Given the description of an element on the screen output the (x, y) to click on. 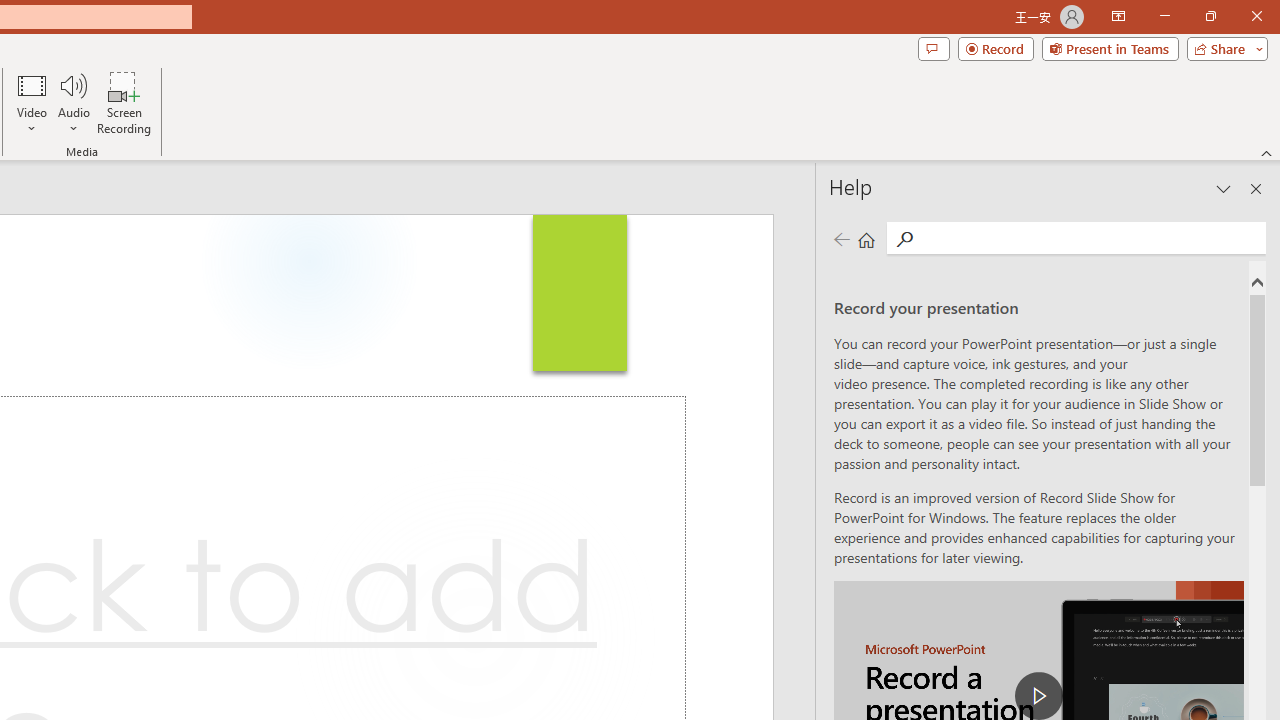
play Record a Presentation (1038, 695)
Screen Recording... (123, 102)
